Given the description of an element on the screen output the (x, y) to click on. 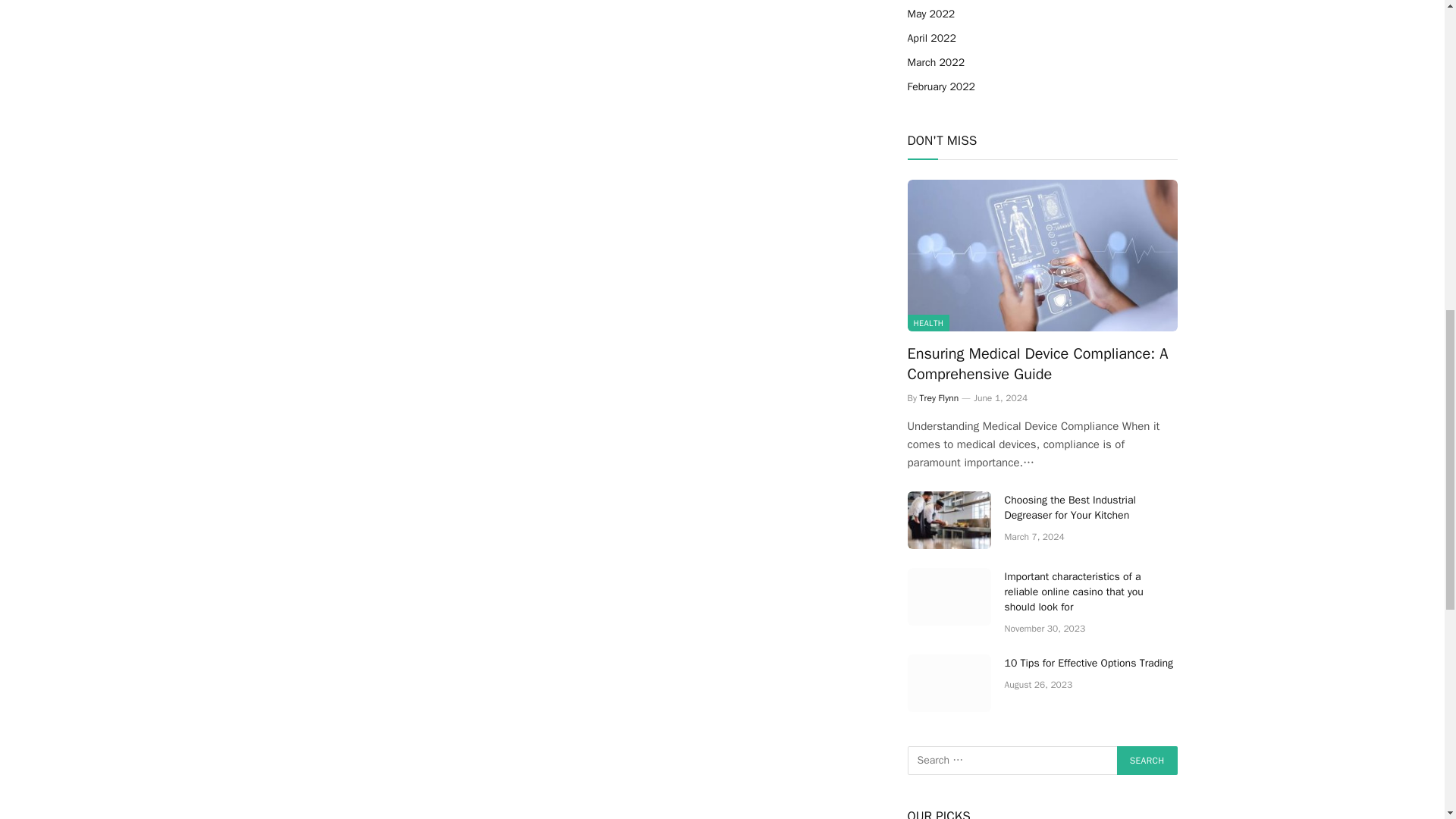
Posts by Trey Flynn (939, 398)
Choosing the Best Industrial Degreaser for Your Kitchen (948, 519)
10 Tips for Effective Options Trading (948, 682)
Search (1146, 760)
Ensuring Medical Device Compliance: A Comprehensive Guide (1041, 255)
Search (1146, 760)
